Given the description of an element on the screen output the (x, y) to click on. 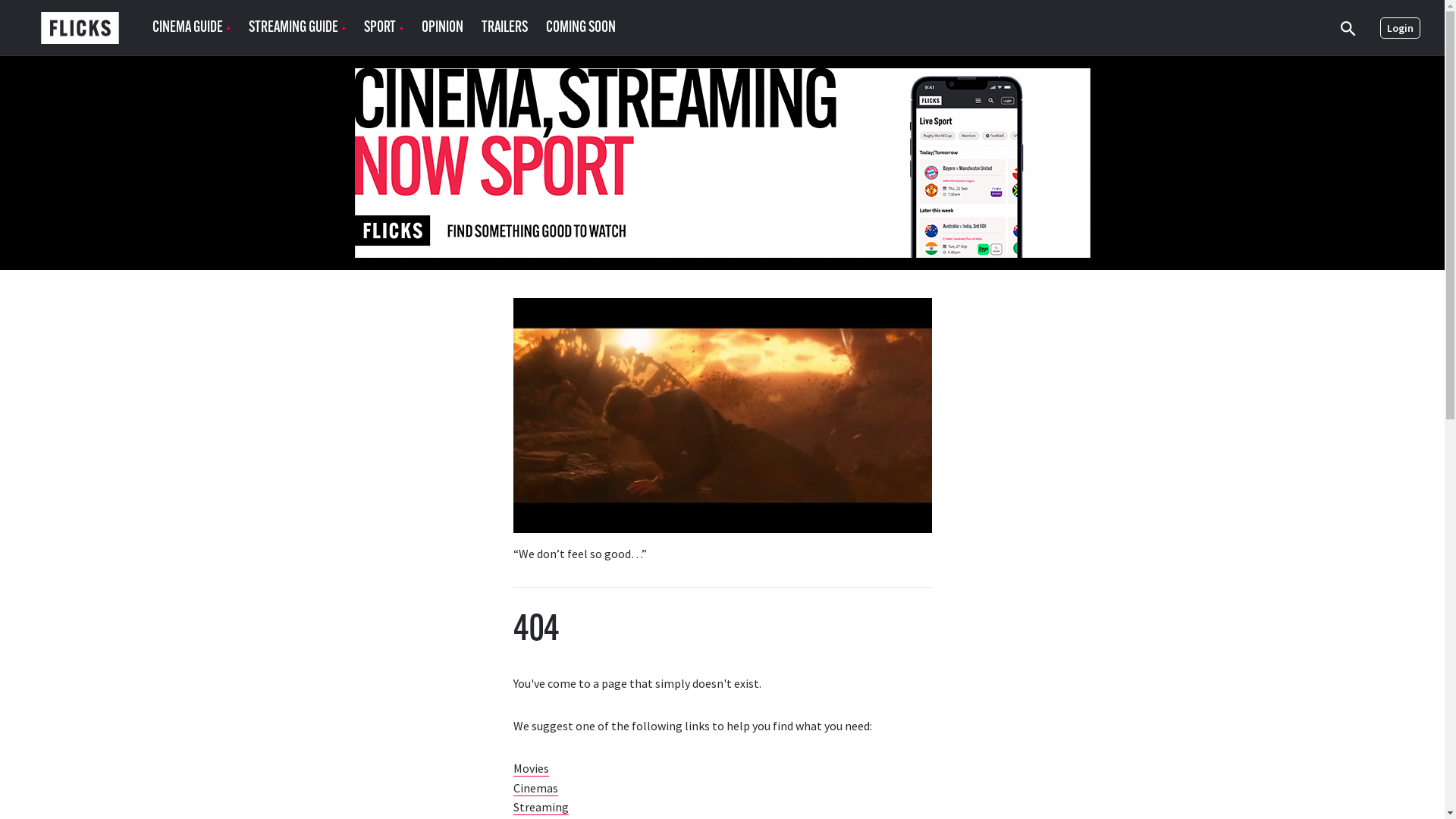
EVERYTHING Element type: text (317, 78)
COMING SOON Element type: text (580, 27)
Login Element type: text (1400, 27)
CINEMA GUIDE Element type: text (191, 27)
TRAILERS Element type: text (504, 27)
MOVIES Element type: text (188, 78)
SPORT Element type: text (383, 27)
3rd party ad content Element type: hover (722, 162)
Movies Element type: text (530, 768)
Streaming Element type: text (539, 807)
OPINION Element type: text (442, 27)
EVERYTHING Element type: text (429, 78)
STREAMING GUIDE Element type: text (296, 27)
Cinemas Element type: text (534, 788)
Search site Element type: hover (1347, 27)
